Given the description of an element on the screen output the (x, y) to click on. 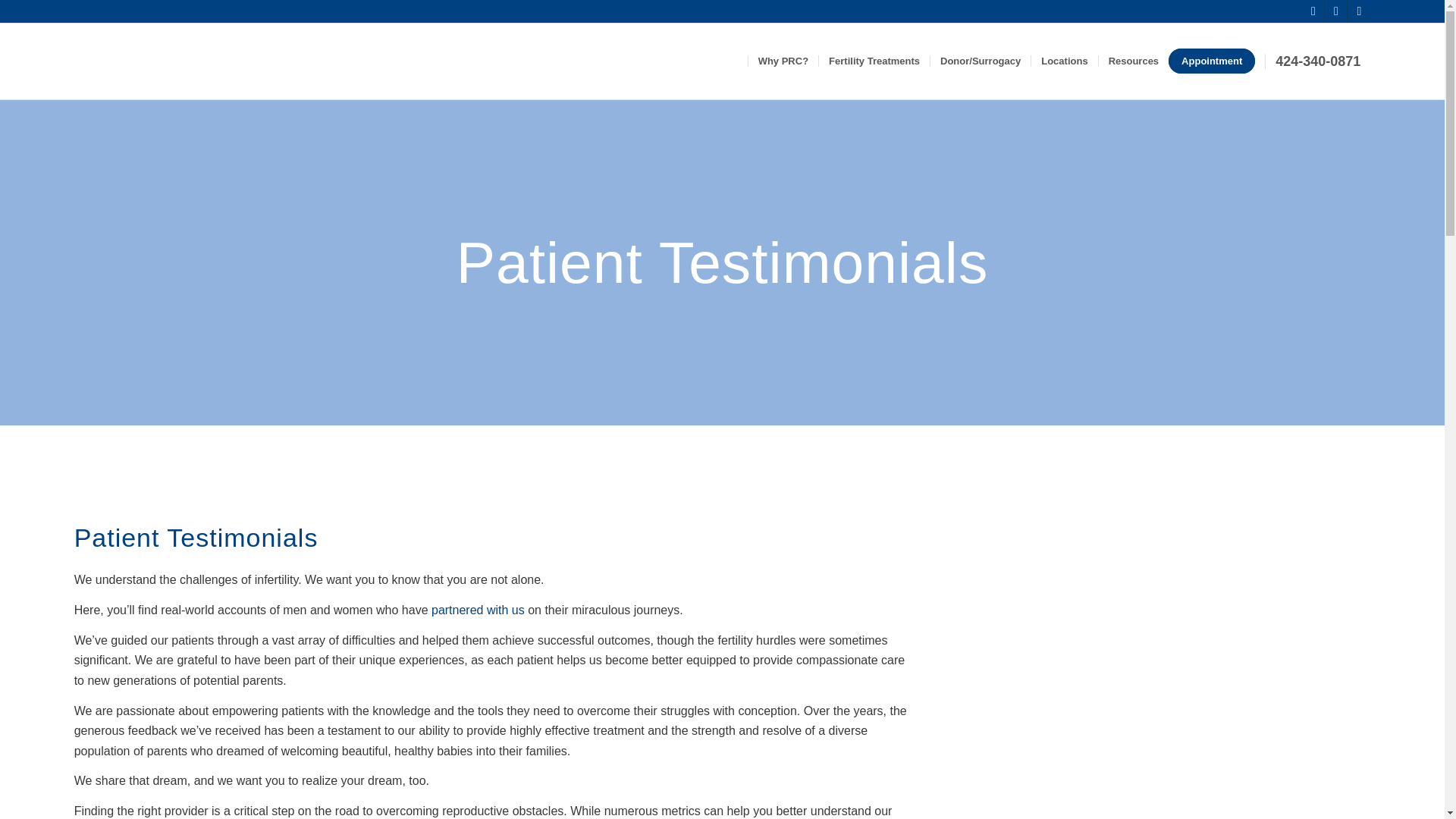
Why PRC? (783, 61)
Fertility Treatments (874, 61)
Mail (1312, 11)
Facebook (1335, 11)
Instagram (1359, 11)
